Given the description of an element on the screen output the (x, y) to click on. 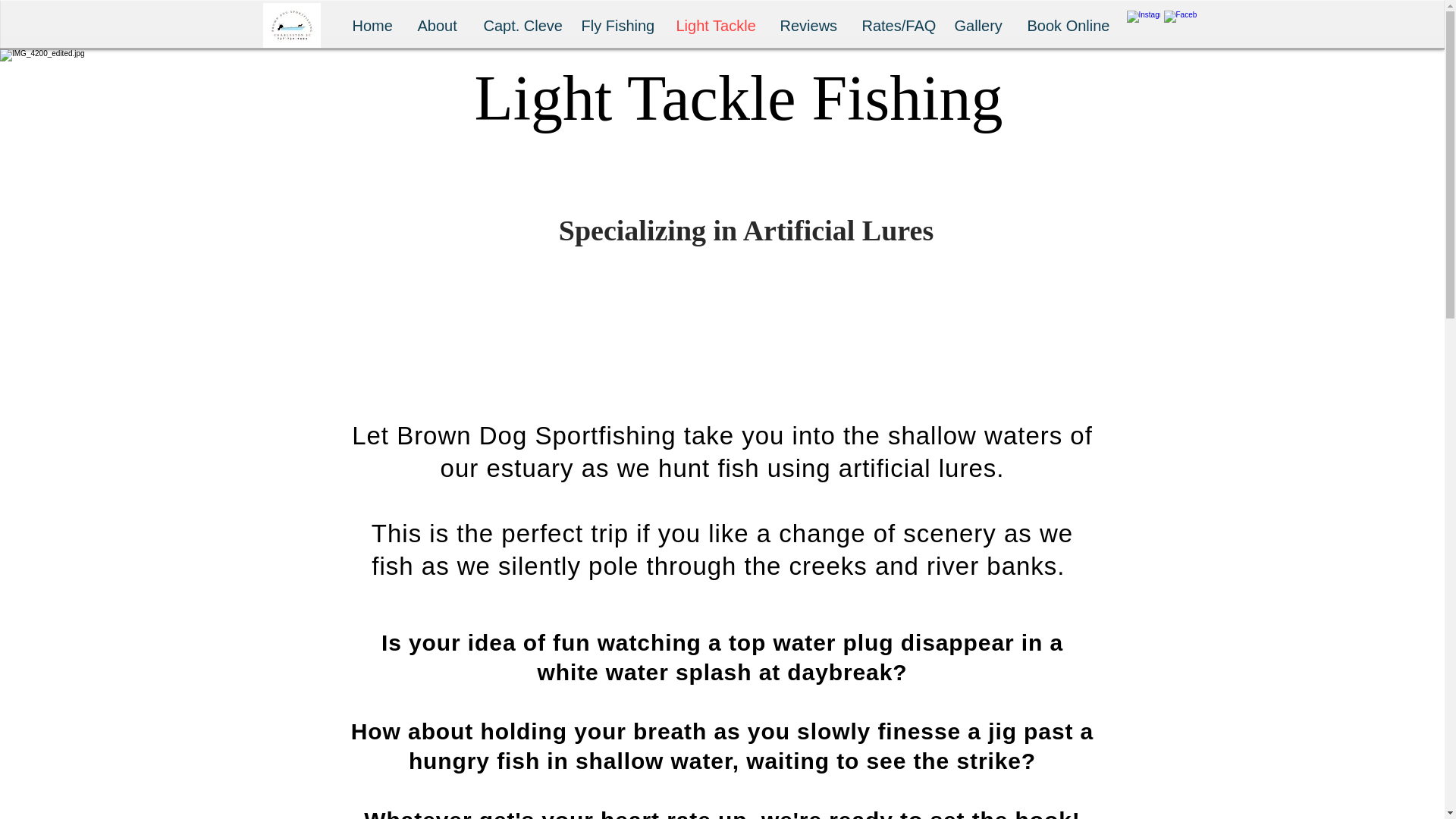
Light Tackle (715, 25)
Book Online (1067, 25)
Home (373, 25)
Capt. Cleve (520, 25)
Reviews (809, 25)
About (438, 25)
Gallery (979, 25)
Fly Fishing (617, 25)
